Given the description of an element on the screen output the (x, y) to click on. 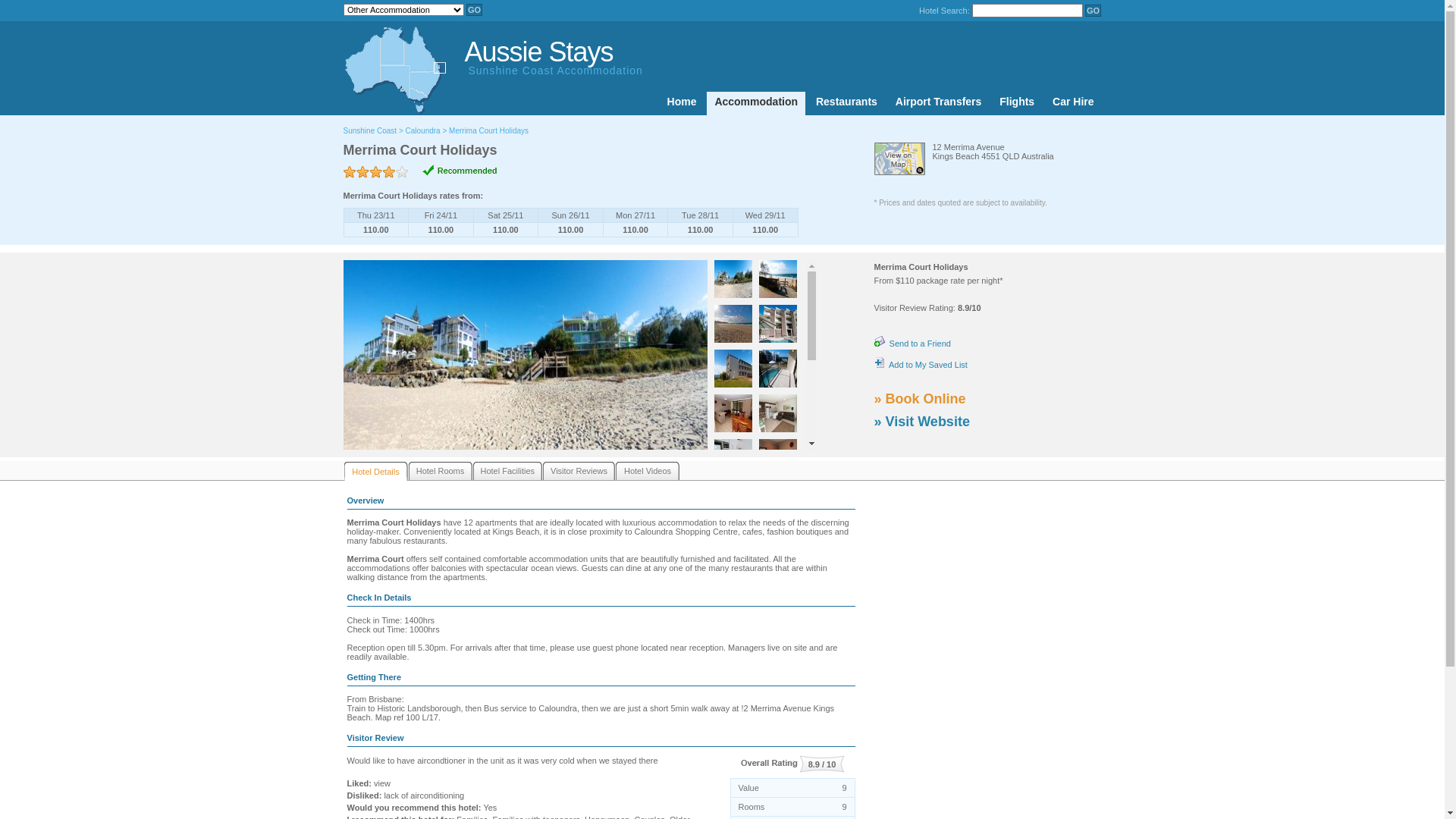
Accommodation Element type: text (755, 103)
Add to My Saved List Element type: text (919, 364)
Hotel Details Element type: text (375, 470)
Caloundra Element type: text (422, 130)
GO Element type: text (1093, 10)
Flights Element type: text (1016, 103)
Hotel Rooms Element type: text (439, 470)
Restaurants Element type: text (846, 103)
Hotel Facilities Element type: text (507, 470)
Merrima Court Holidays Element type: text (488, 130)
Sunshine Coast Element type: text (369, 130)
Airport Transfers Element type: text (938, 103)
Send to a Friend Element type: text (911, 343)
Visitor Reviews Element type: text (578, 470)
Hotel Videos Element type: text (647, 470)
GO Element type: text (474, 9)
Home Element type: text (681, 103)
Car Hire Element type: text (1072, 103)
